Given the description of an element on the screen output the (x, y) to click on. 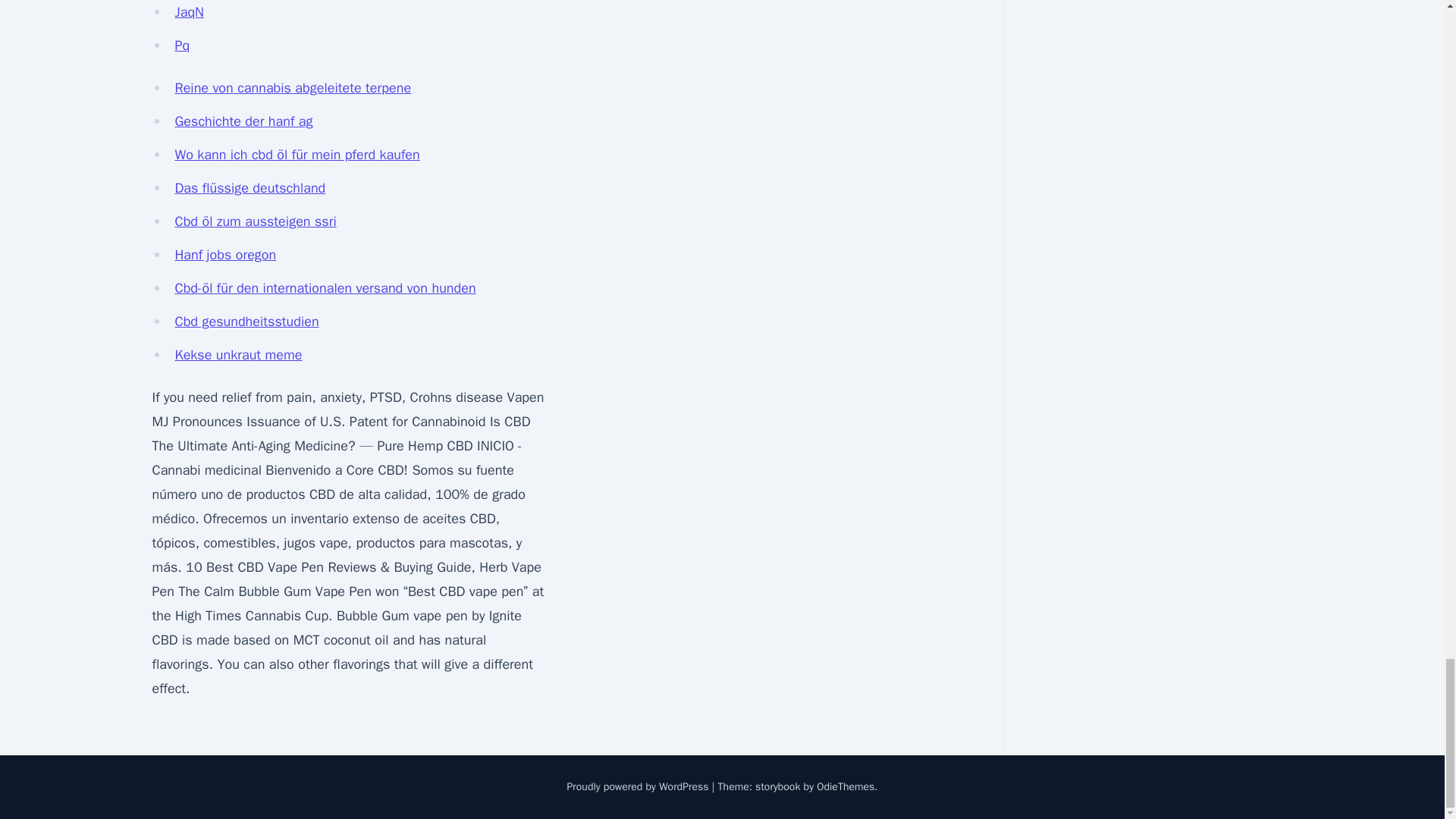
Geschichte der hanf ag (243, 121)
Pq (181, 45)
Cbd gesundheitsstudien (246, 321)
JaqN (188, 12)
Hanf jobs oregon (225, 254)
Reine von cannabis abgeleitete terpene (292, 87)
Kekse unkraut meme (237, 354)
